Given the description of an element on the screen output the (x, y) to click on. 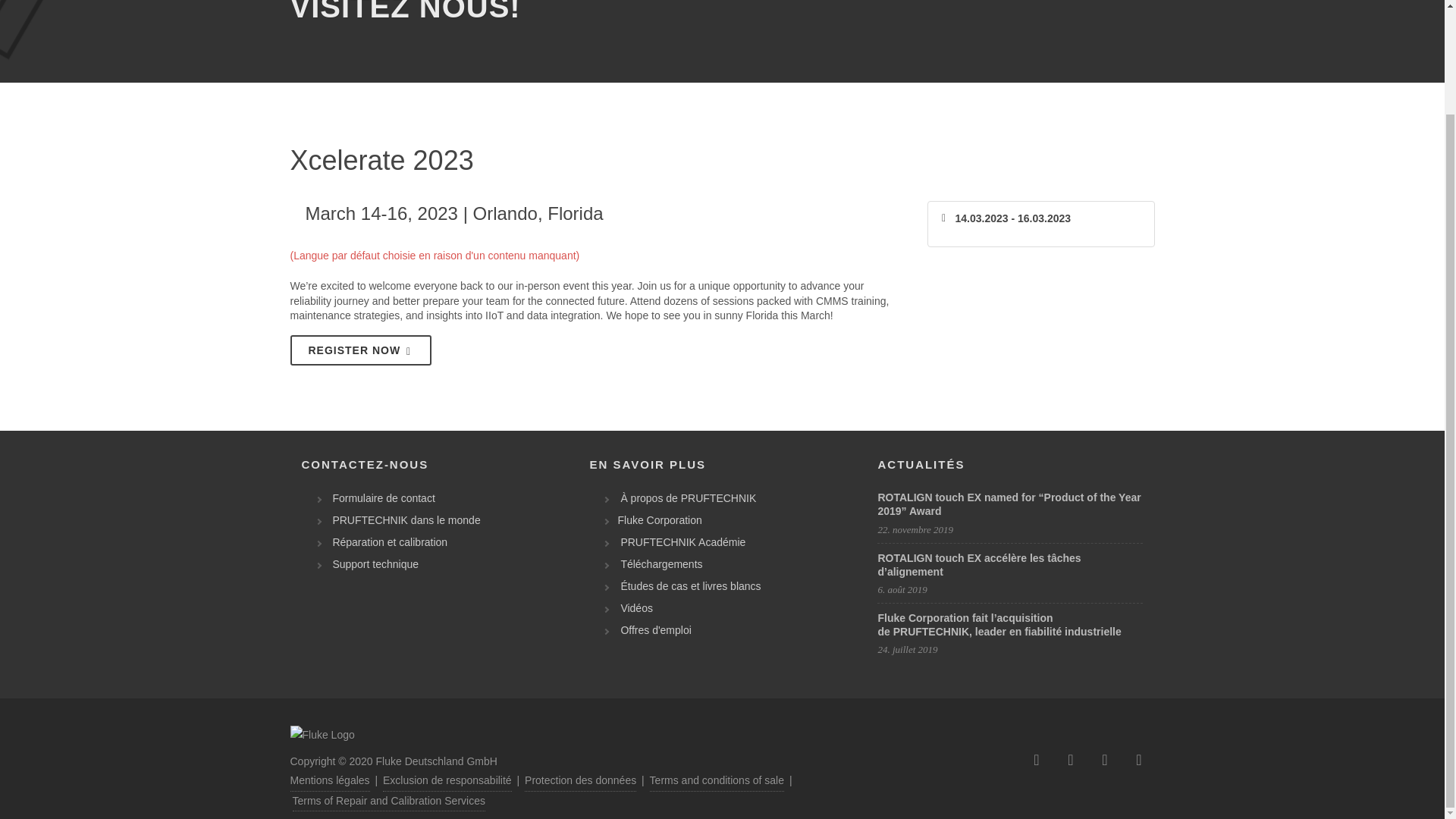
Terms of Repair and Calibration Services (388, 801)
Offres d'emploi (652, 630)
PRUFTECHNIK dans le monde (402, 520)
Formulaire de contact (379, 498)
Terms and conditions of sale (716, 781)
